Given the description of an element on the screen output the (x, y) to click on. 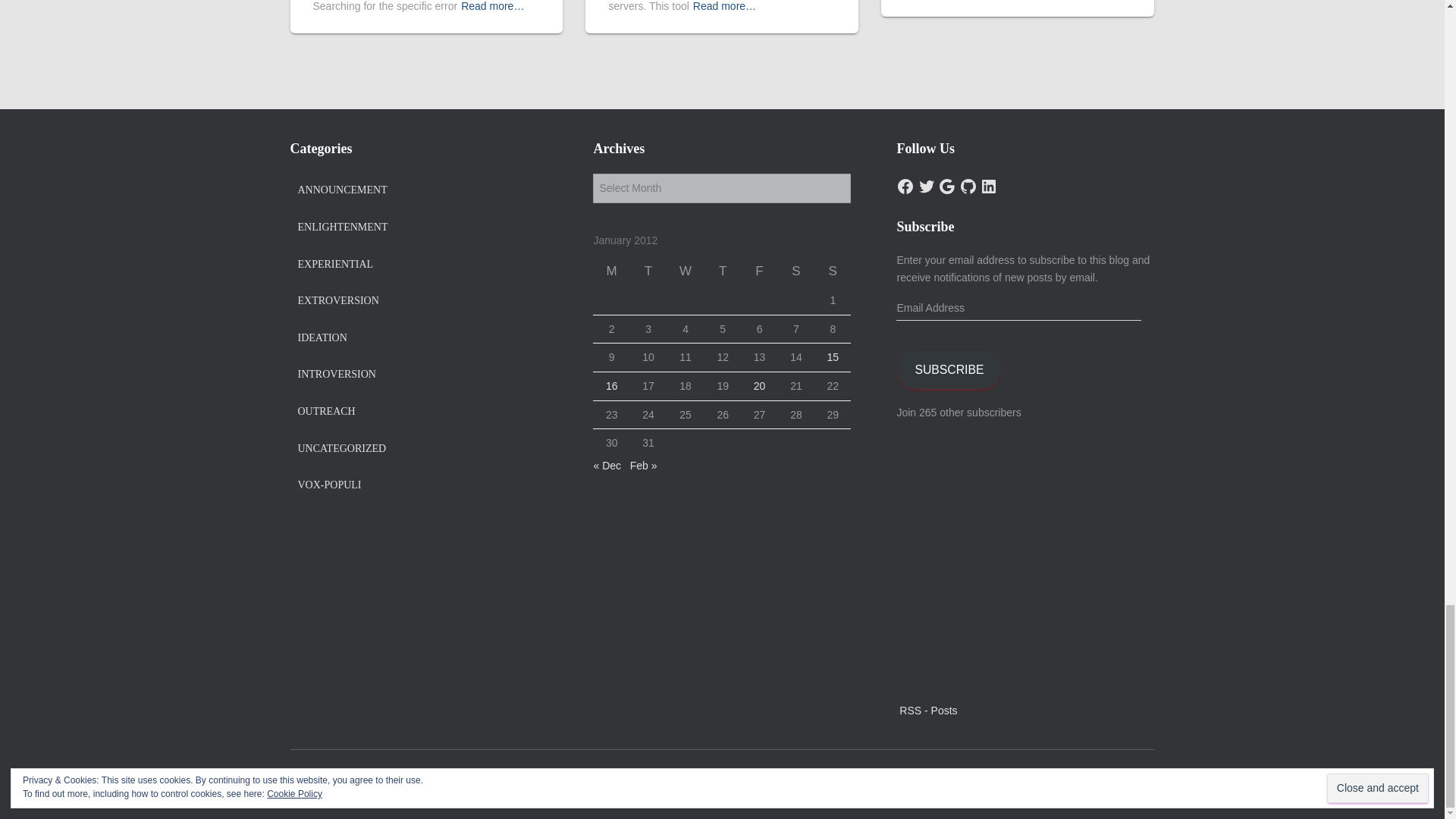
ANNOUNCEMENT (342, 190)
ENLIGHTENMENT (342, 227)
EXPERIENTIAL (334, 264)
EXTROVERSION (337, 300)
IDEATION (321, 337)
UNCATEGORIZED (341, 449)
INTROVERSION (336, 374)
OUTREACH (326, 411)
